Given the description of an element on the screen output the (x, y) to click on. 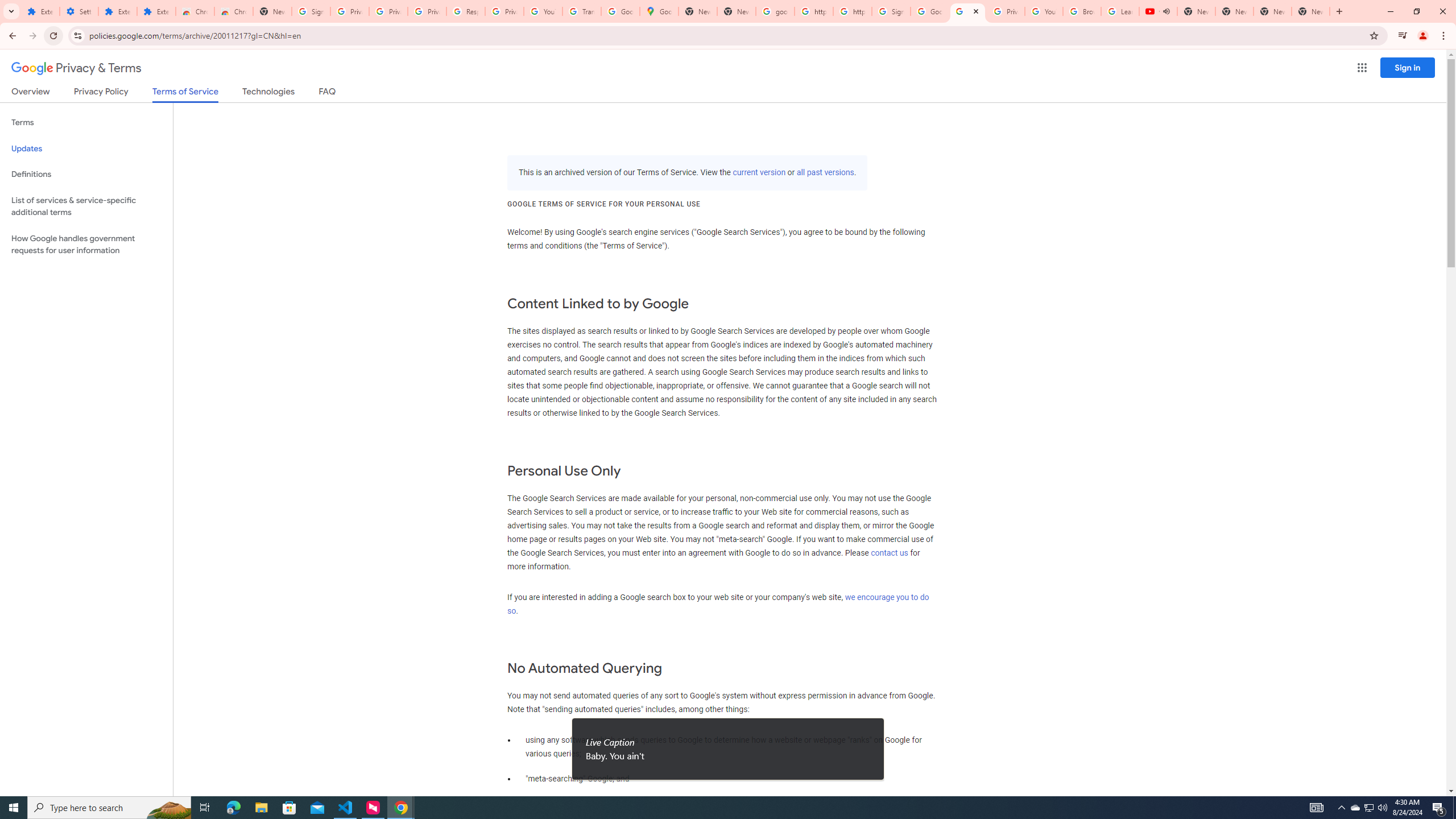
https://scholar.google.com/ (852, 11)
Chrome Web Store (194, 11)
Extensions (117, 11)
